Given the description of an element on the screen output the (x, y) to click on. 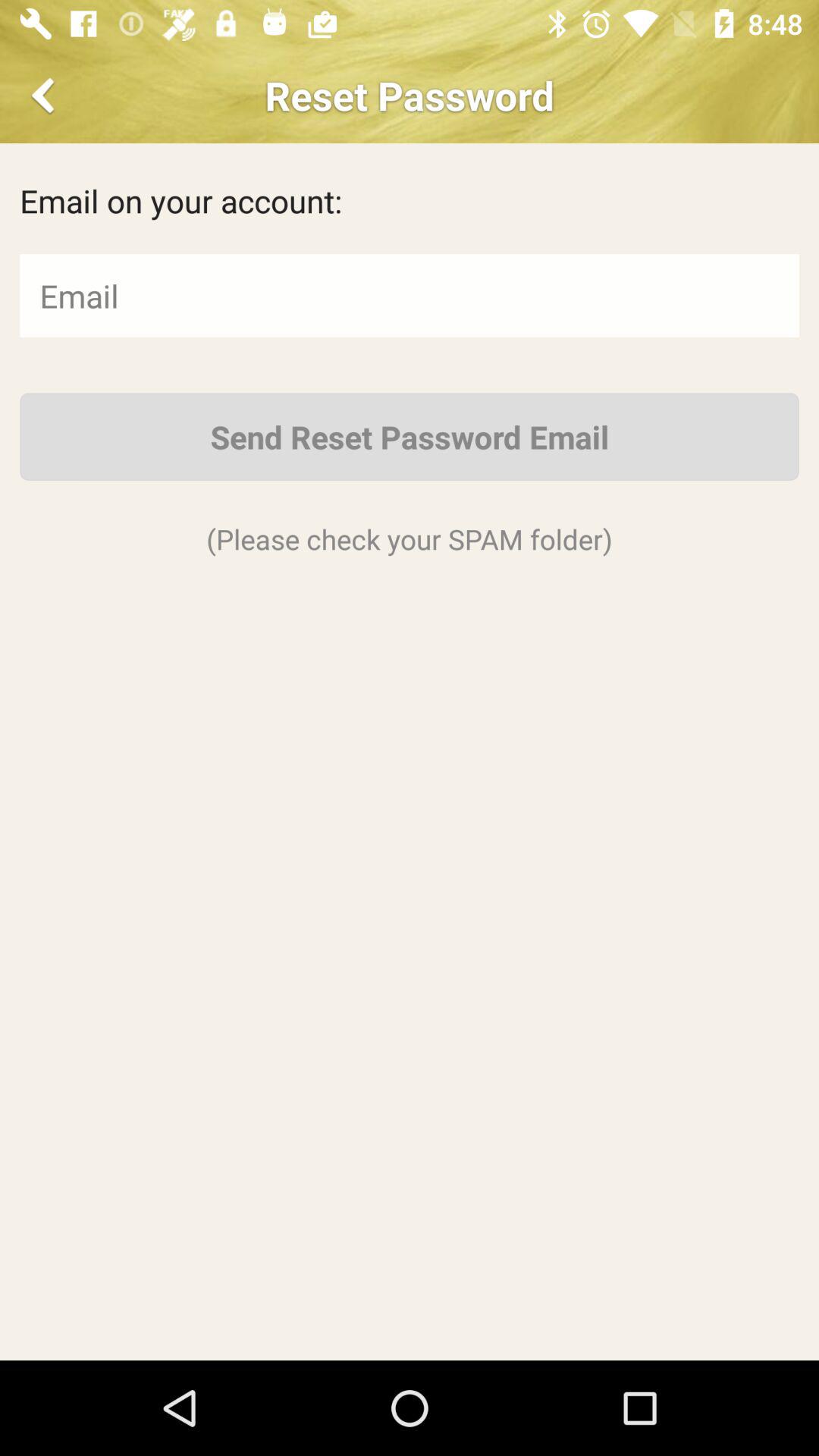
press the item next to reset password app (45, 95)
